Given the description of an element on the screen output the (x, y) to click on. 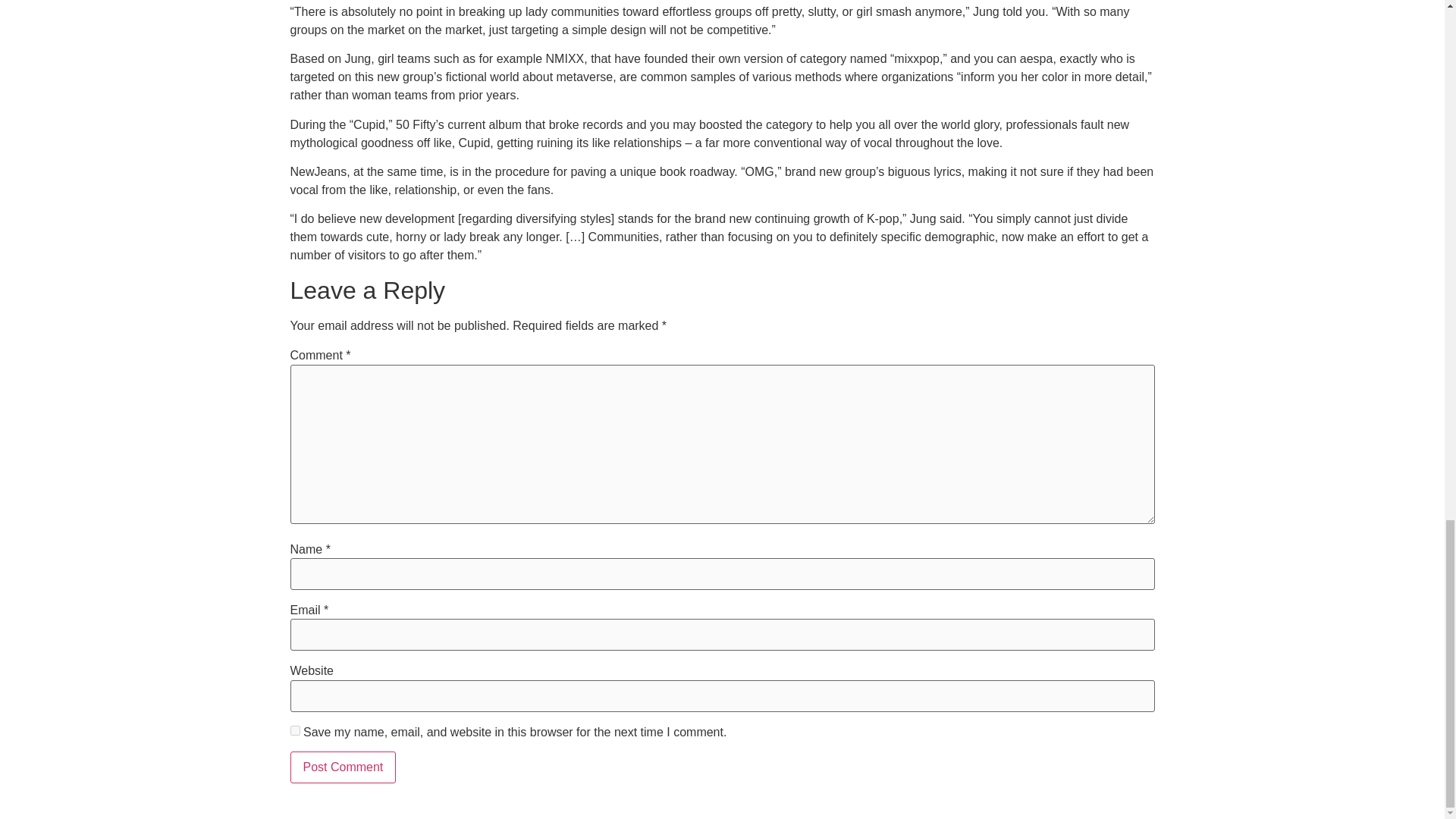
Post Comment (342, 766)
yes (294, 730)
Post Comment (342, 766)
